Given the description of an element on the screen output the (x, y) to click on. 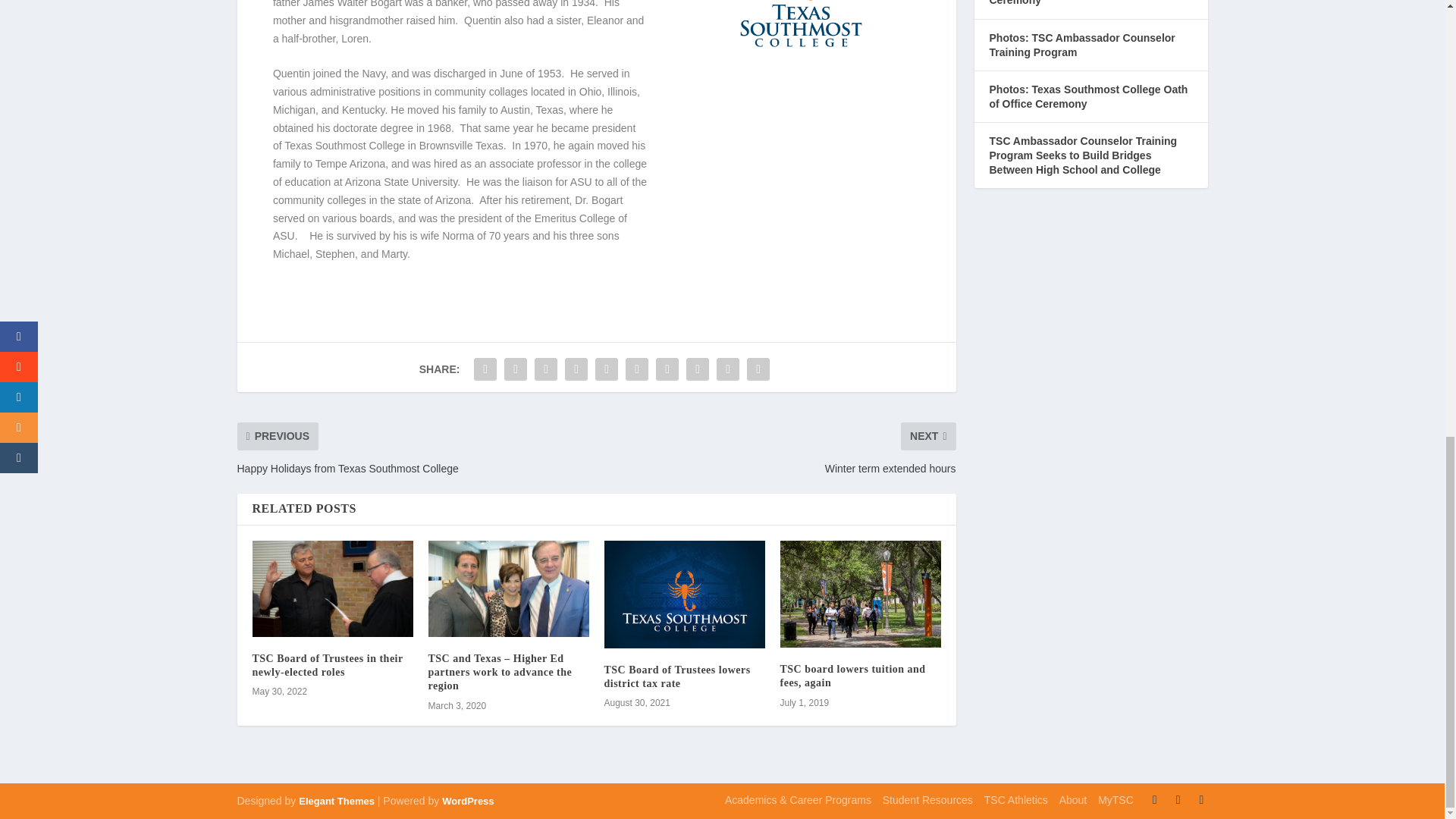
Texas Southmost Ollege (801, 53)
Share "Obituary: Quentin J. Bogart, PhD" via Facebook (485, 368)
Share "Obituary: Quentin J. Bogart, PhD" via Twitter (515, 368)
